Given the description of an element on the screen output the (x, y) to click on. 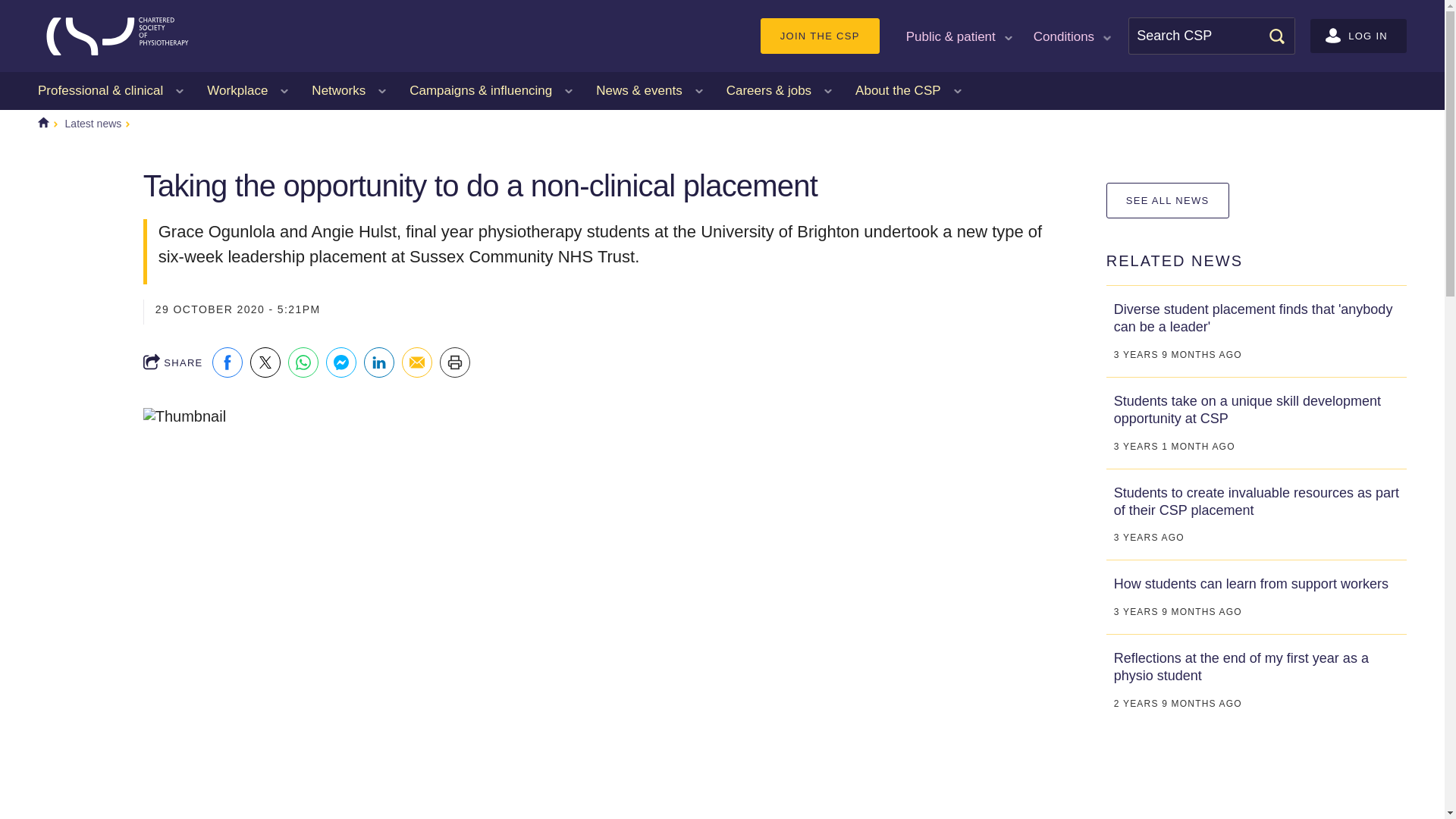
JOIN THE CSP (819, 36)
LOG IN (1358, 35)
WhatsApp (303, 362)
Linkedin (379, 362)
Email (416, 362)
Enter the terms you wish to search for. (1211, 35)
Facebook (227, 362)
Conditions (1071, 35)
